Given the description of an element on the screen output the (x, y) to click on. 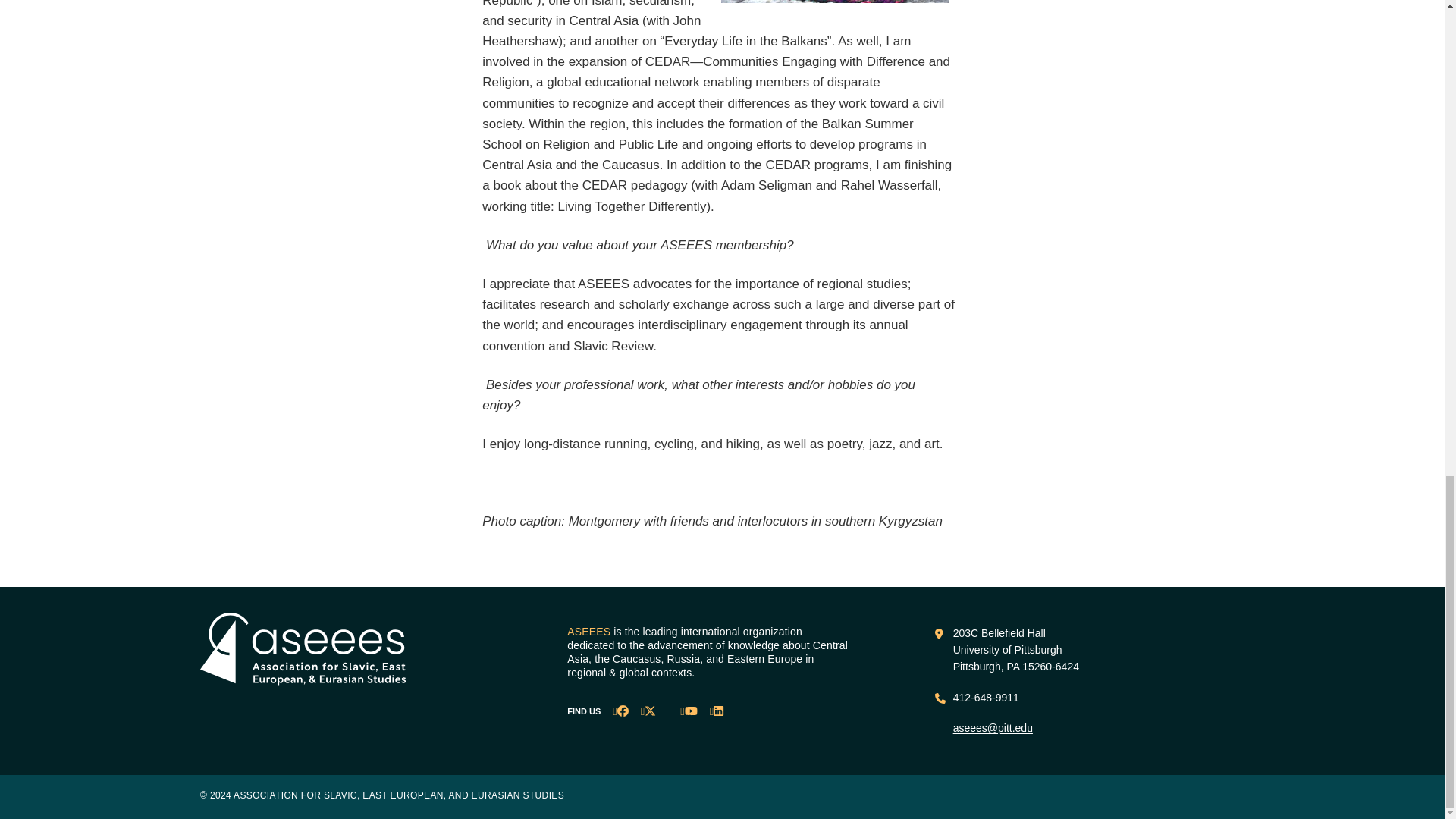
like us on facebook (619, 711)
Subscribe on YouTube (688, 711)
like us on linkedin (716, 711)
follow us on X (648, 711)
